Given the description of an element on the screen output the (x, y) to click on. 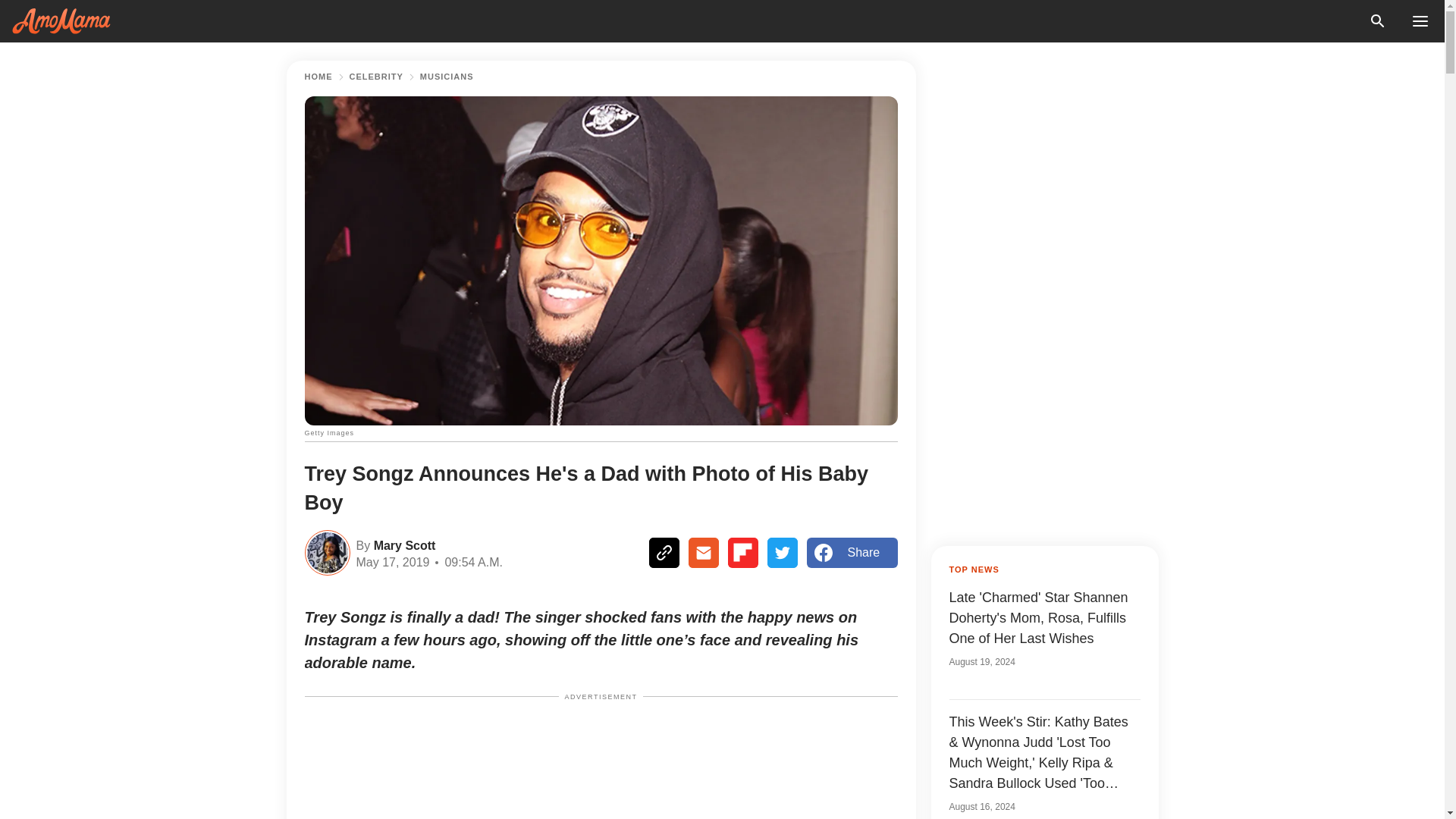
HOME (318, 76)
MUSICIANS (447, 76)
CELEBRITY (376, 76)
Mary Scott (402, 544)
